Given the description of an element on the screen output the (x, y) to click on. 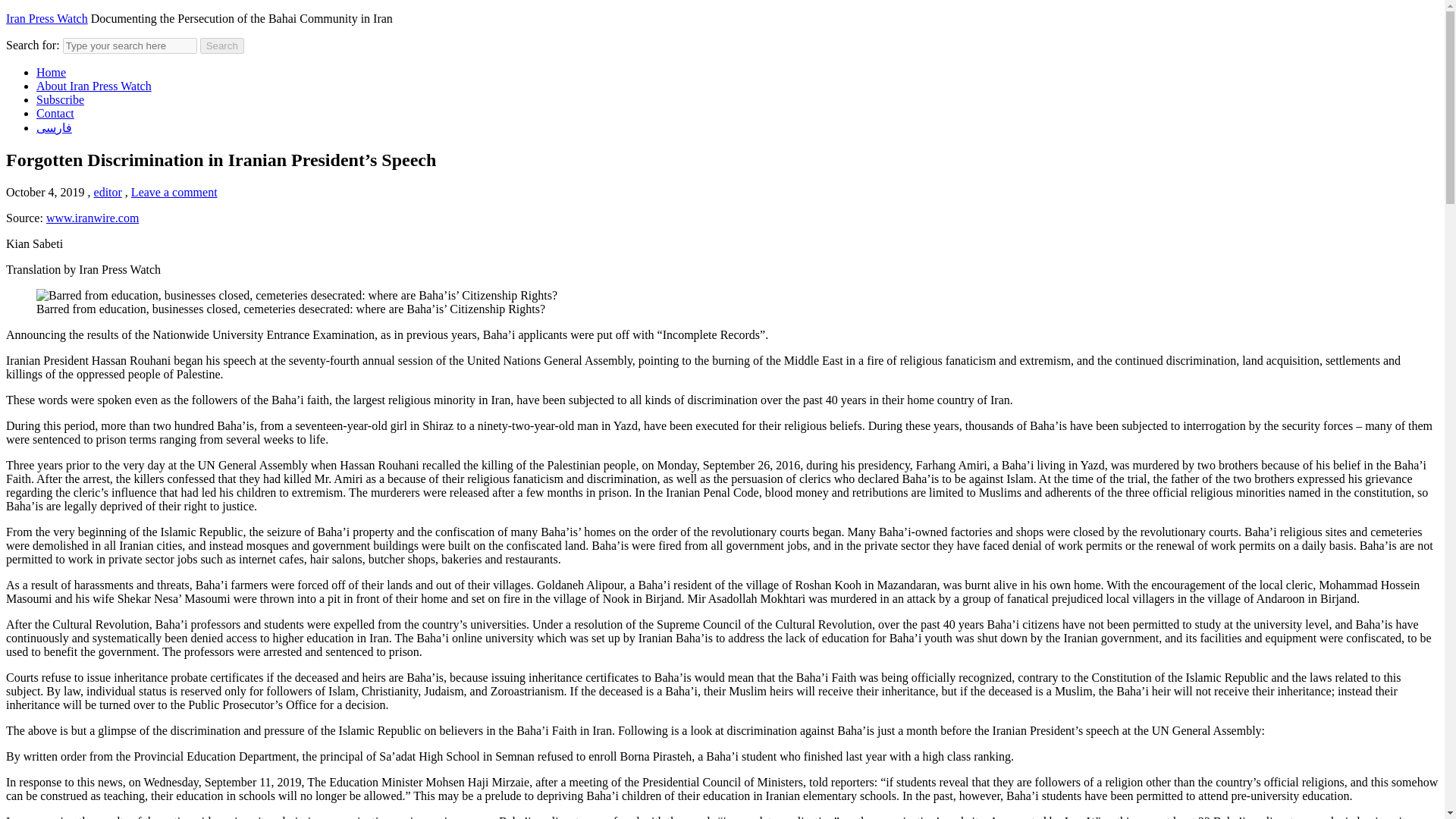
Posts by editor (108, 192)
About Iran Press Watch (93, 85)
www.iranwire.com (92, 217)
Search (222, 45)
Contact (55, 113)
Home (50, 72)
editor (108, 192)
Iran Press Watch (46, 18)
Leave a comment (173, 192)
Subscribe (60, 99)
